Given the description of an element on the screen output the (x, y) to click on. 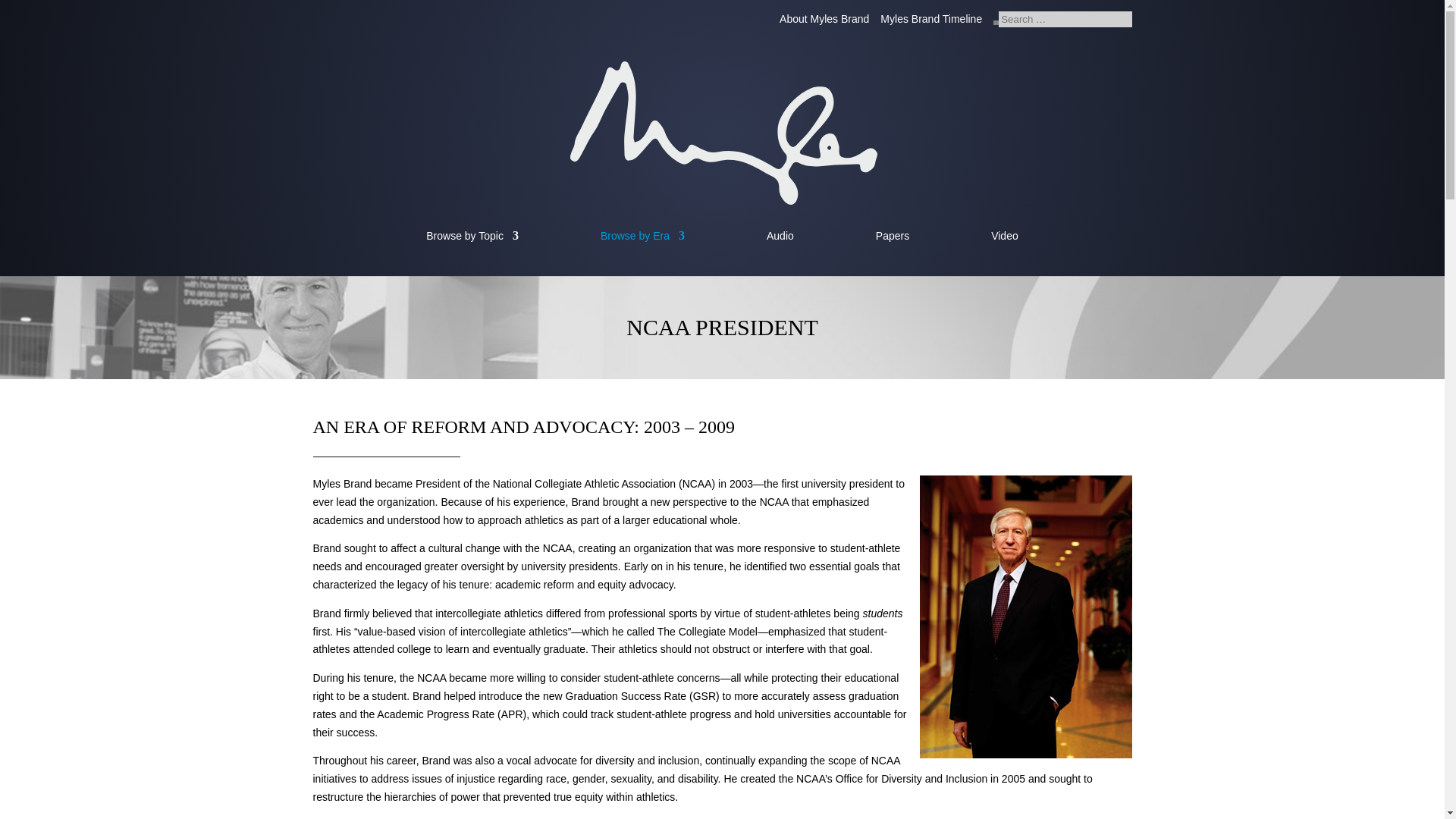
Browse by Era (641, 253)
Browse by Topic (472, 253)
Audio (780, 253)
Search for: (1065, 19)
Myles Brand Timeline (930, 23)
Papers (892, 253)
About Myles Brand (823, 23)
Video (1004, 253)
